Given the description of an element on the screen output the (x, y) to click on. 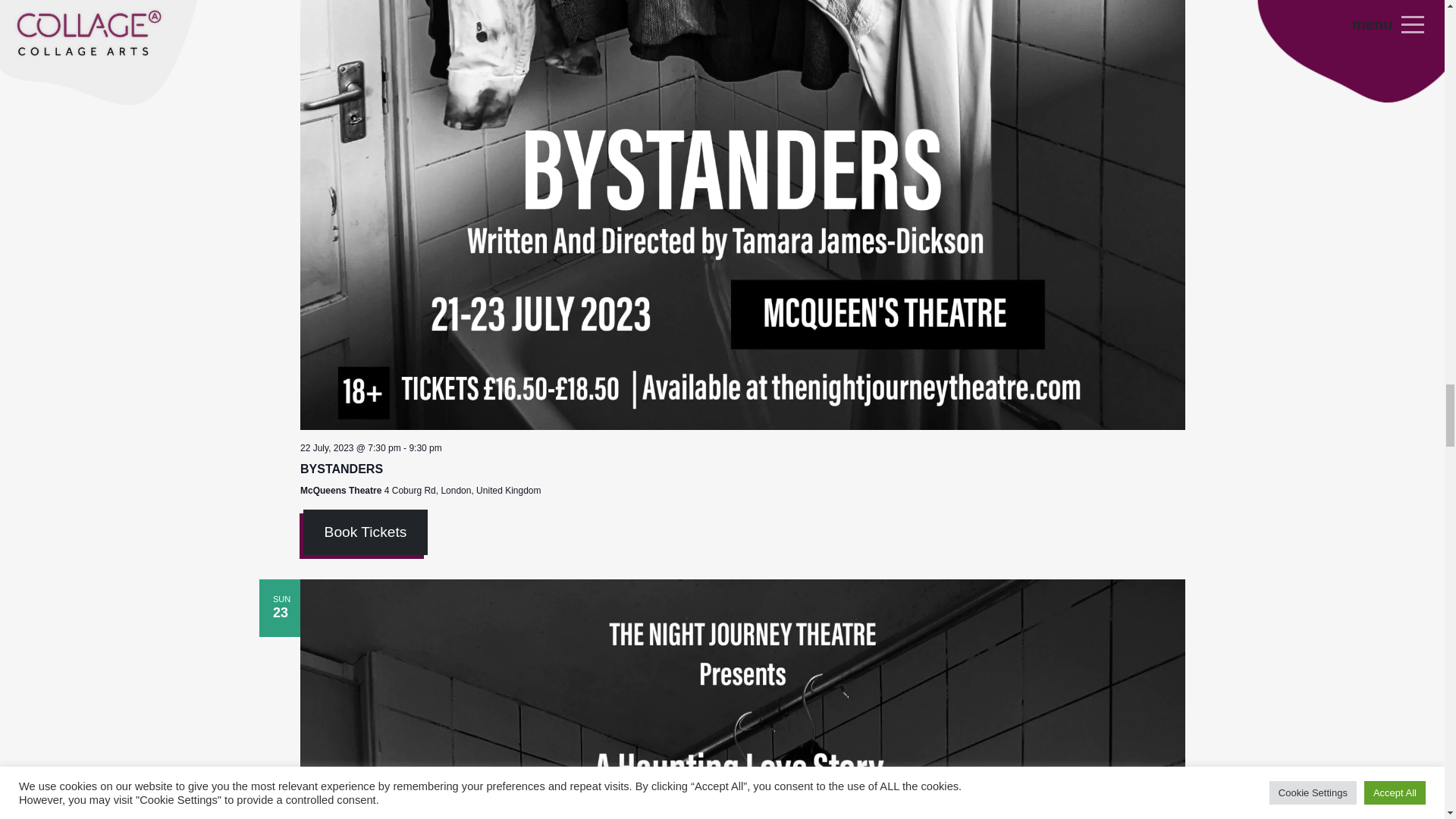
BYSTANDERS (340, 468)
